Given the description of an element on the screen output the (x, y) to click on. 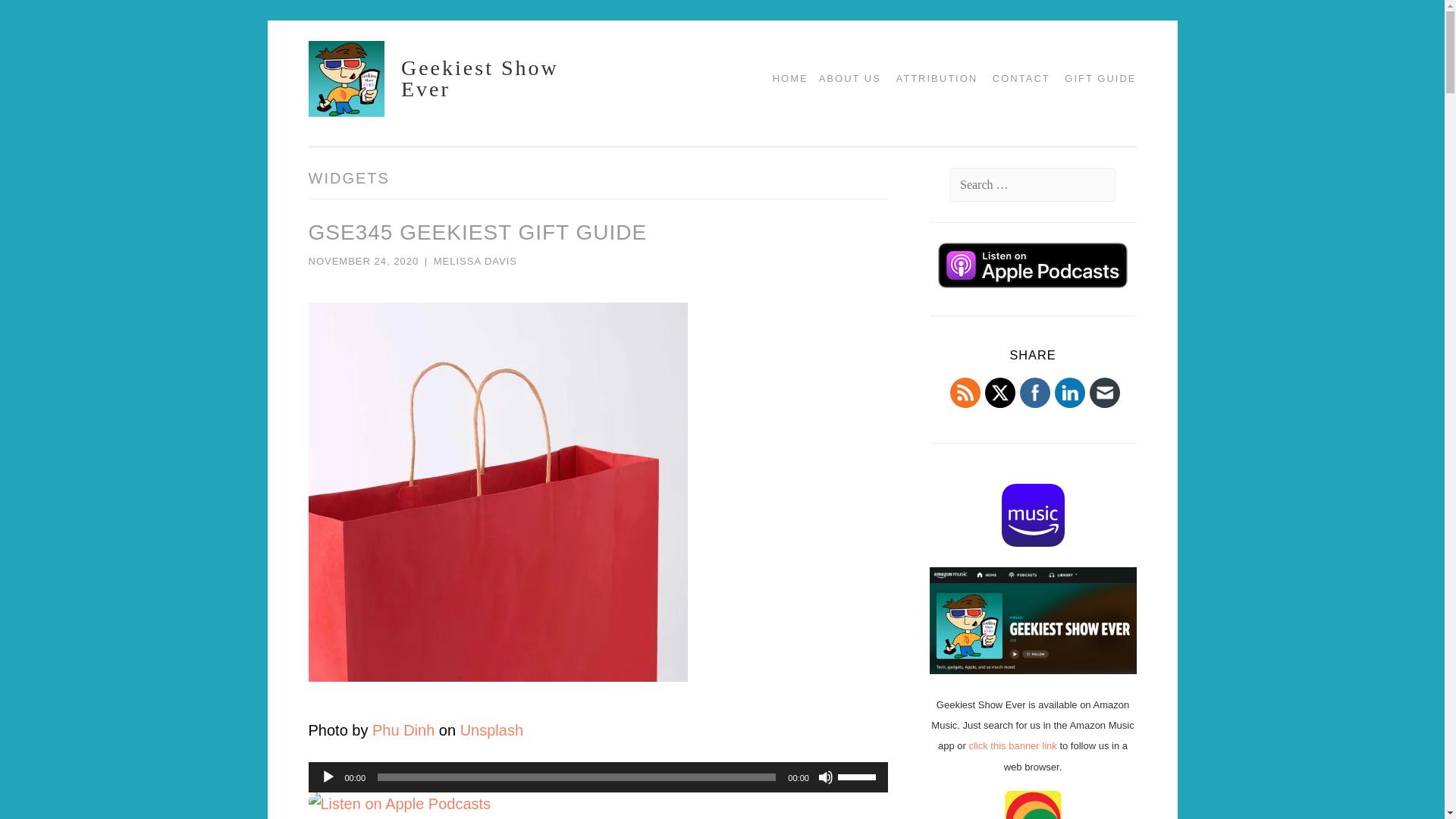
Twitter (1000, 392)
ATTRIBUTION (931, 78)
CONTACT (1015, 78)
Follow by Email (1104, 392)
GIFT GUIDE (1094, 78)
ABOUT US (844, 78)
Play (327, 776)
Phu Dinh (402, 729)
Mute (825, 776)
HOME (784, 78)
MELISSA DAVIS (474, 260)
GSE345 GEEKIEST GIFT GUIDE (476, 232)
Geekiest Show Ever (480, 78)
Facebook (1034, 392)
NOVEMBER 24, 2020 (363, 260)
